Given the description of an element on the screen output the (x, y) to click on. 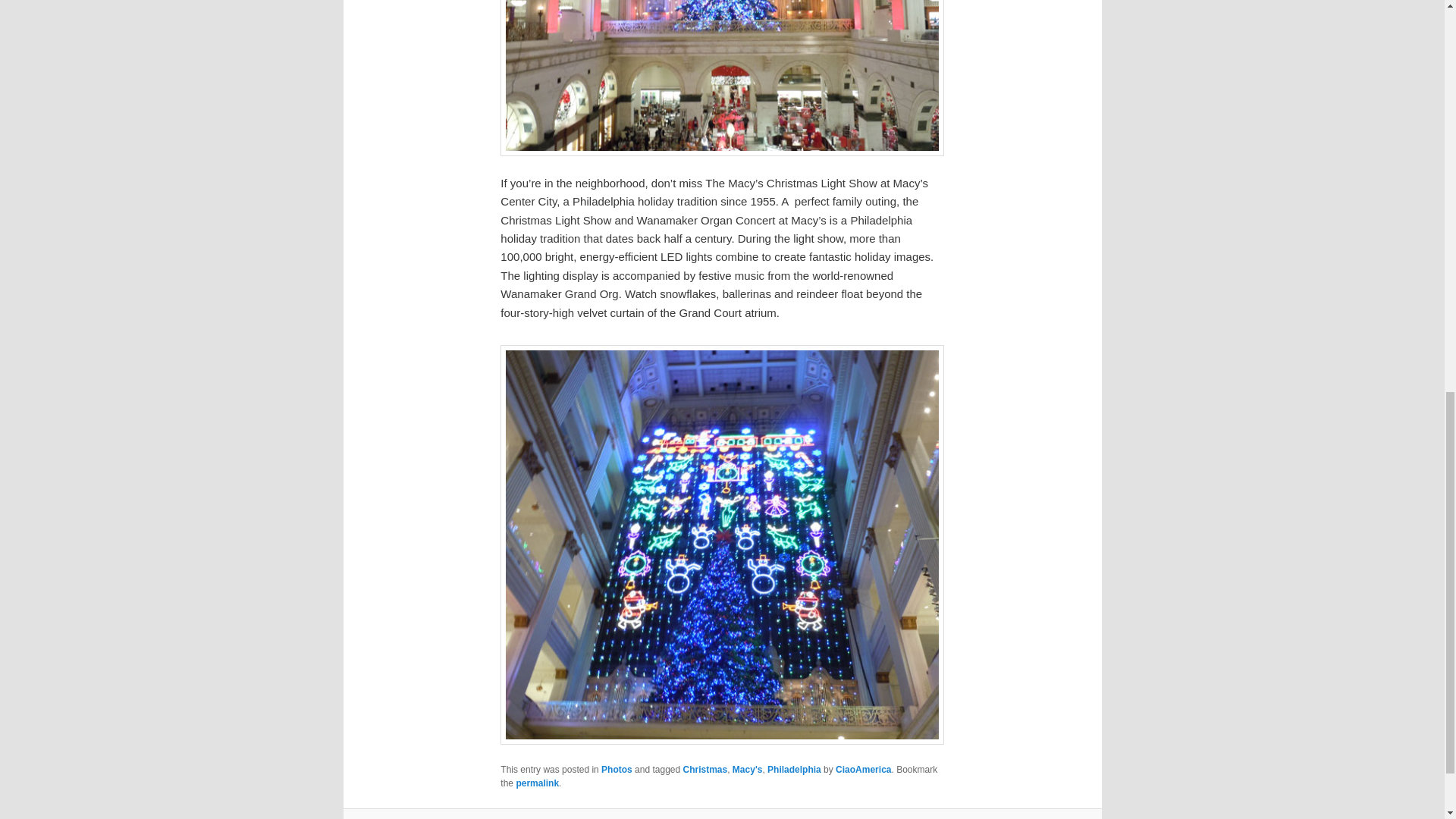
Christmas (704, 769)
permalink (537, 783)
Macy's (747, 769)
Photos (616, 769)
macys-tree2 (721, 78)
Philadelphia (794, 769)
CiaoAmerica (863, 769)
